Given the description of an element on the screen output the (x, y) to click on. 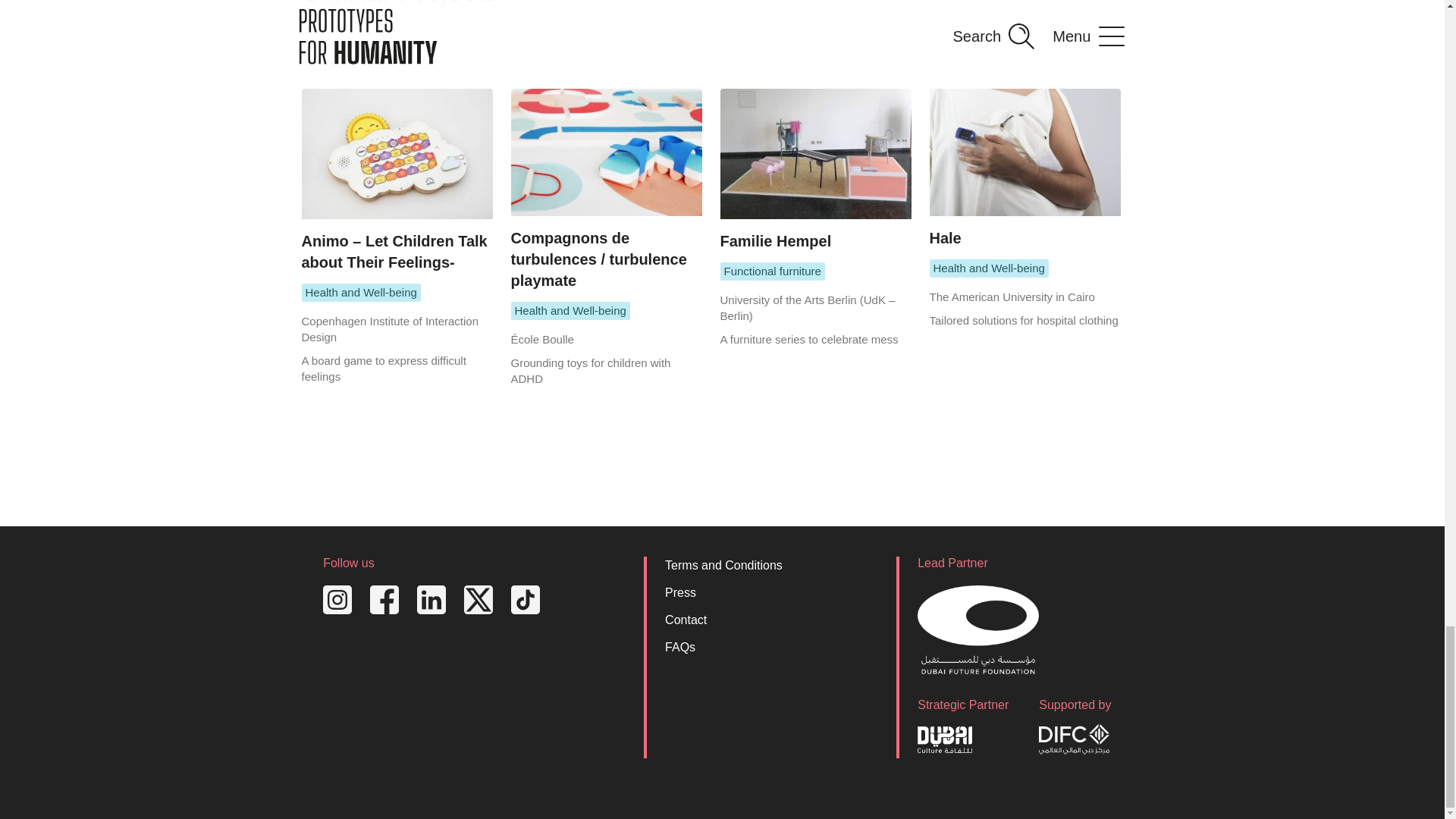
Familie Hempel (815, 169)
Health and Well-being (570, 311)
Hale (1025, 168)
The American University in Cairo (1012, 296)
Health and Well-being (360, 292)
Functional furniture (772, 271)
Health and Well-being (989, 268)
Copenhagen Institute of Interaction Design (390, 328)
